Given the description of an element on the screen output the (x, y) to click on. 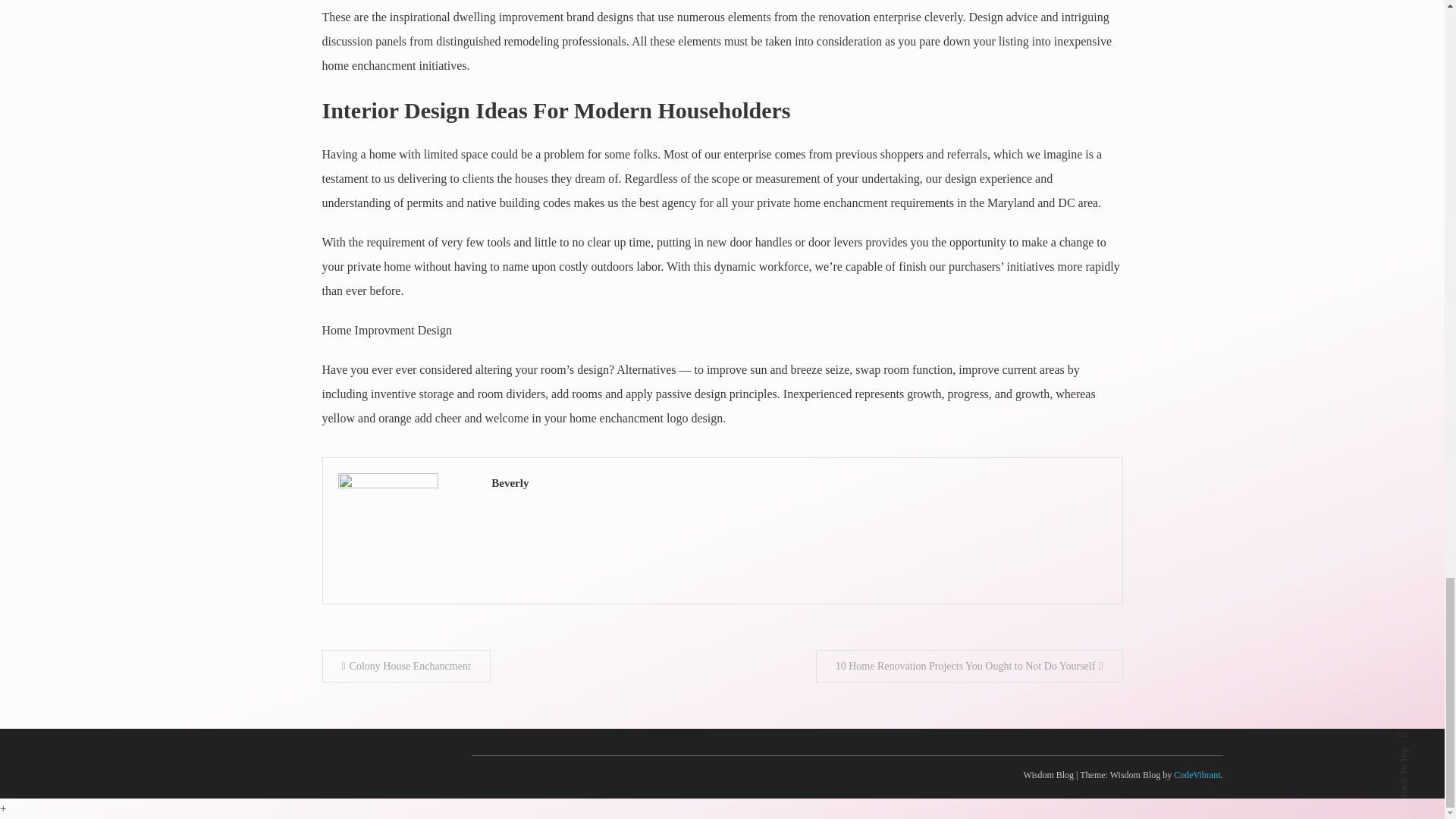
CodeVibrant (1196, 774)
Beverly (799, 483)
10 Home Renovation Projects You Ought to Not Do Yourself (968, 666)
Colony House Enchancment (405, 666)
